Given the description of an element on the screen output the (x, y) to click on. 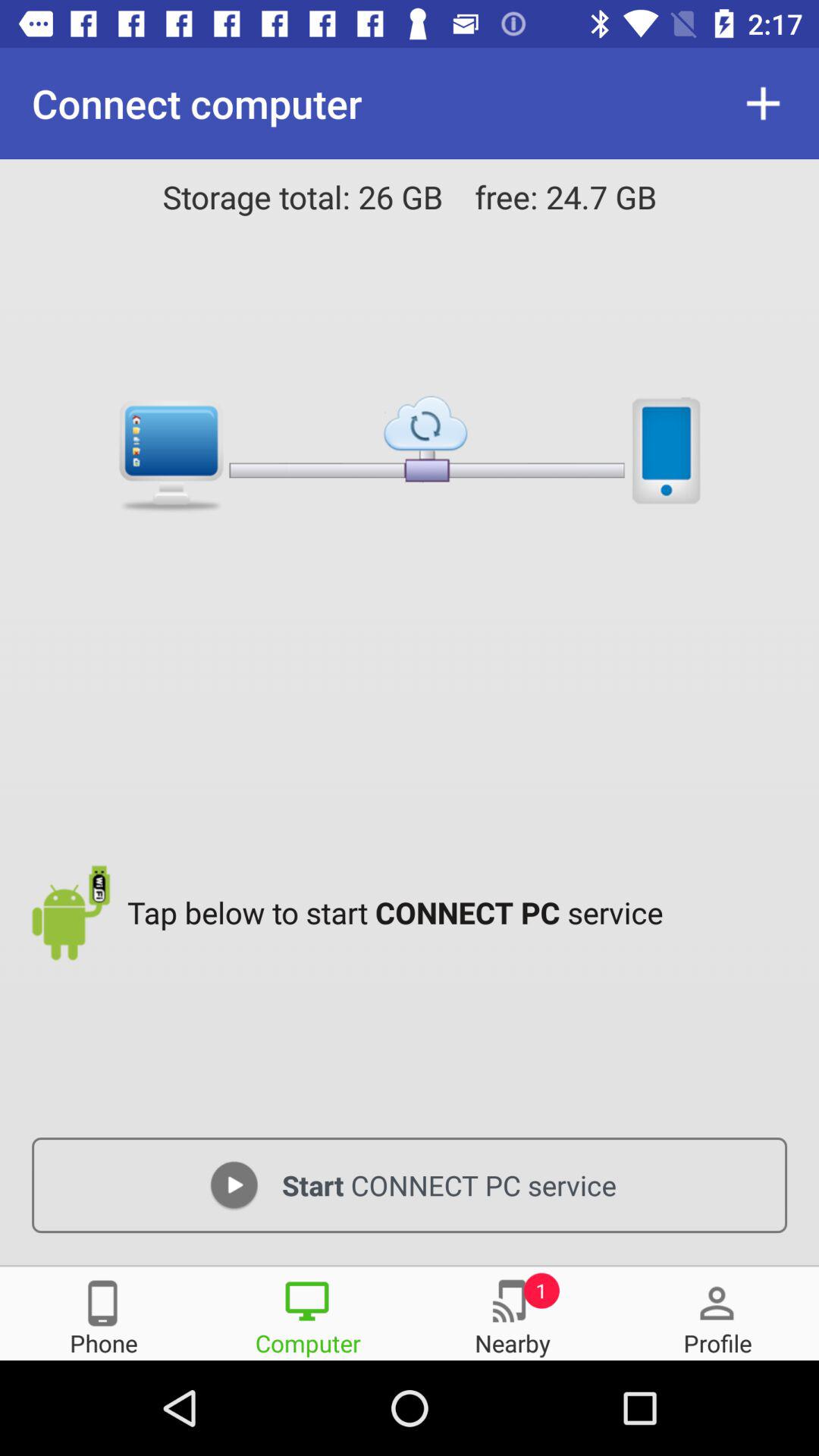
press the tap below to app (461, 912)
